Given the description of an element on the screen output the (x, y) to click on. 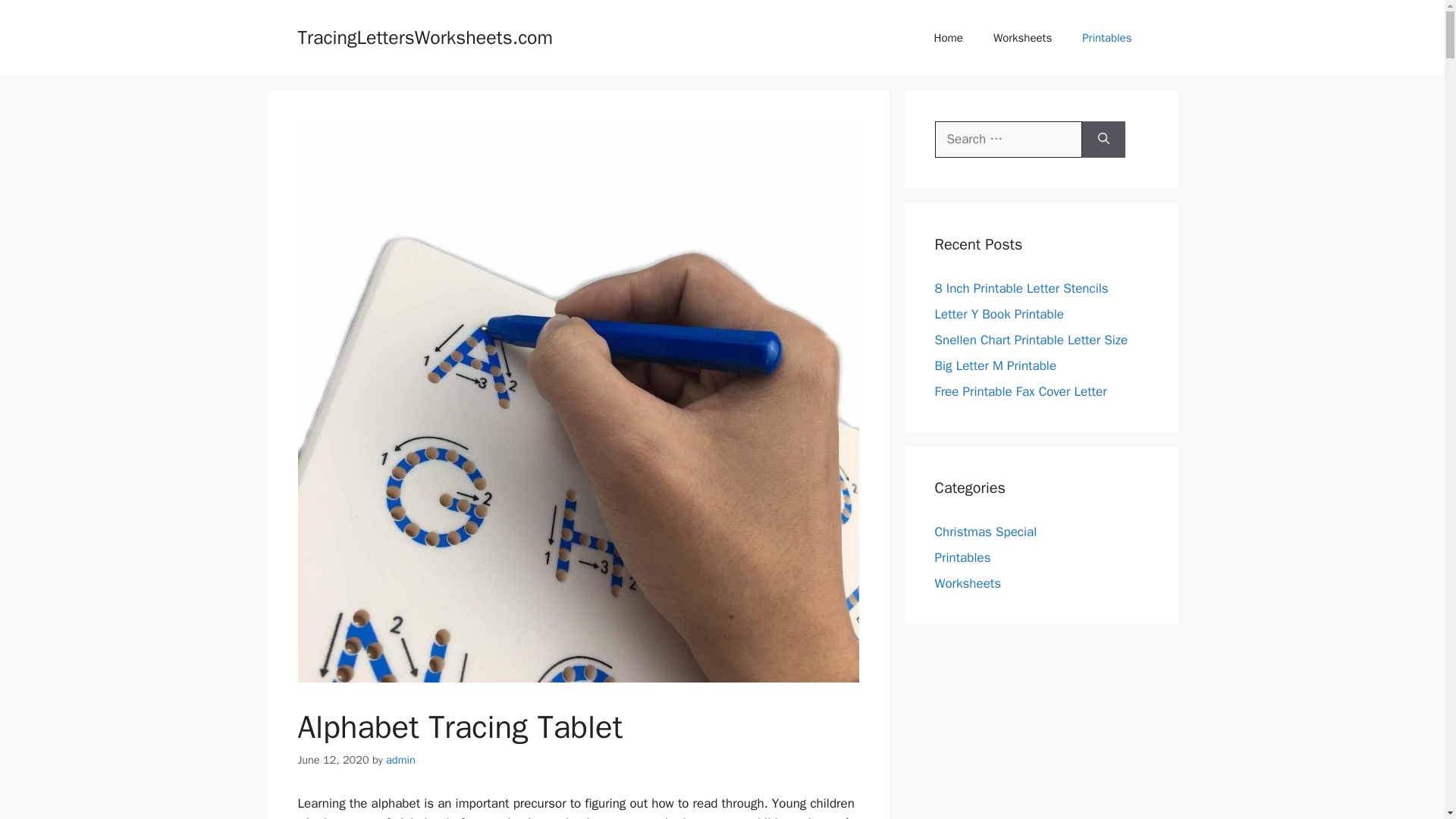
Home (948, 37)
Big Letter M Printable (995, 365)
Free Printable Fax Cover Letter (1020, 391)
Worksheets (967, 583)
Christmas Special (985, 531)
Worksheets (1022, 37)
View all posts by admin (399, 759)
8 Inch Printable Letter Stencils (1021, 288)
admin (399, 759)
Search for: (1007, 139)
Printables (1107, 37)
Letter Y Book Printable (998, 314)
Snellen Chart Printable Letter Size (1030, 340)
Printables (962, 557)
TracingLettersWorksheets.com (425, 37)
